Given the description of an element on the screen output the (x, y) to click on. 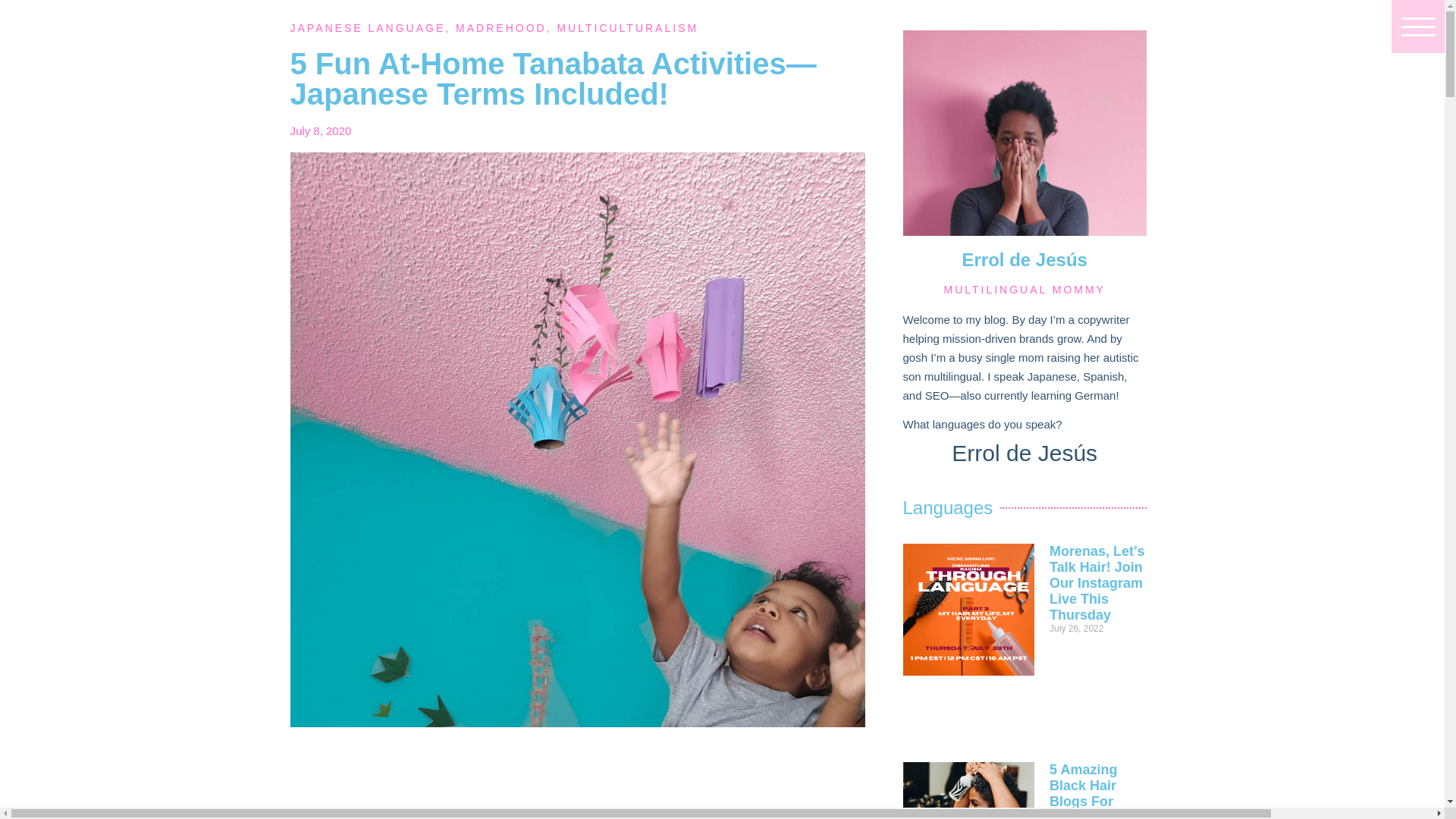
JAPANESE LANGUAGE (367, 28)
5 Amazing Black Hair Blogs For Language Learners (1082, 790)
MULTICULTURALISM (627, 28)
MADREHOOD (501, 28)
